Given the description of an element on the screen output the (x, y) to click on. 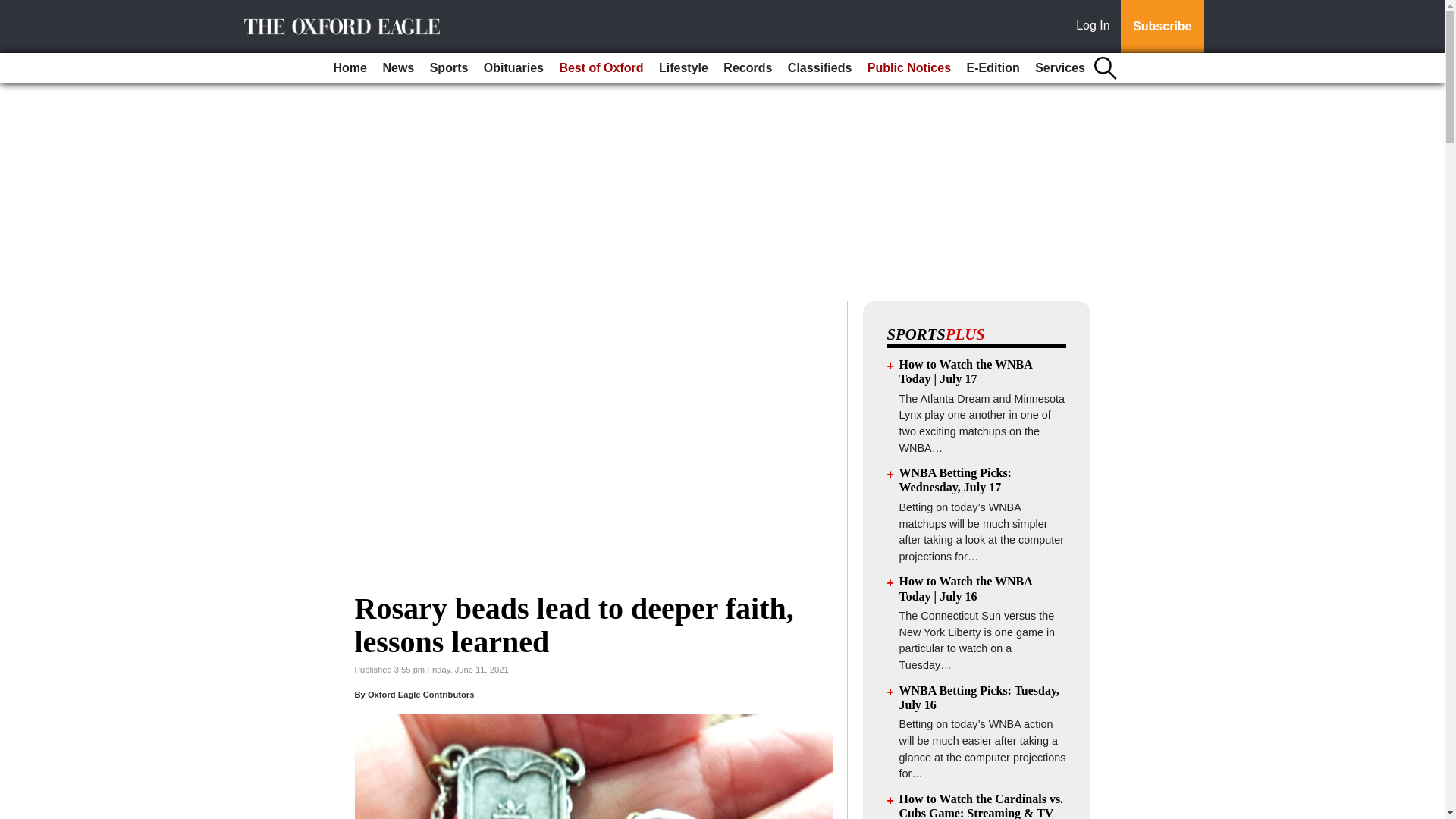
Go (13, 9)
Sports (448, 68)
Records (747, 68)
Oxford Eagle Contributors (421, 694)
WNBA Betting Picks: Wednesday, July 17 (955, 479)
Home (349, 68)
E-Edition (992, 68)
News (397, 68)
Subscribe (1162, 26)
Obituaries (513, 68)
Services (1059, 68)
Classifieds (819, 68)
WNBA Betting Picks: Tuesday, July 16 (979, 697)
Public Notices (908, 68)
Lifestyle (683, 68)
